Given the description of an element on the screen output the (x, y) to click on. 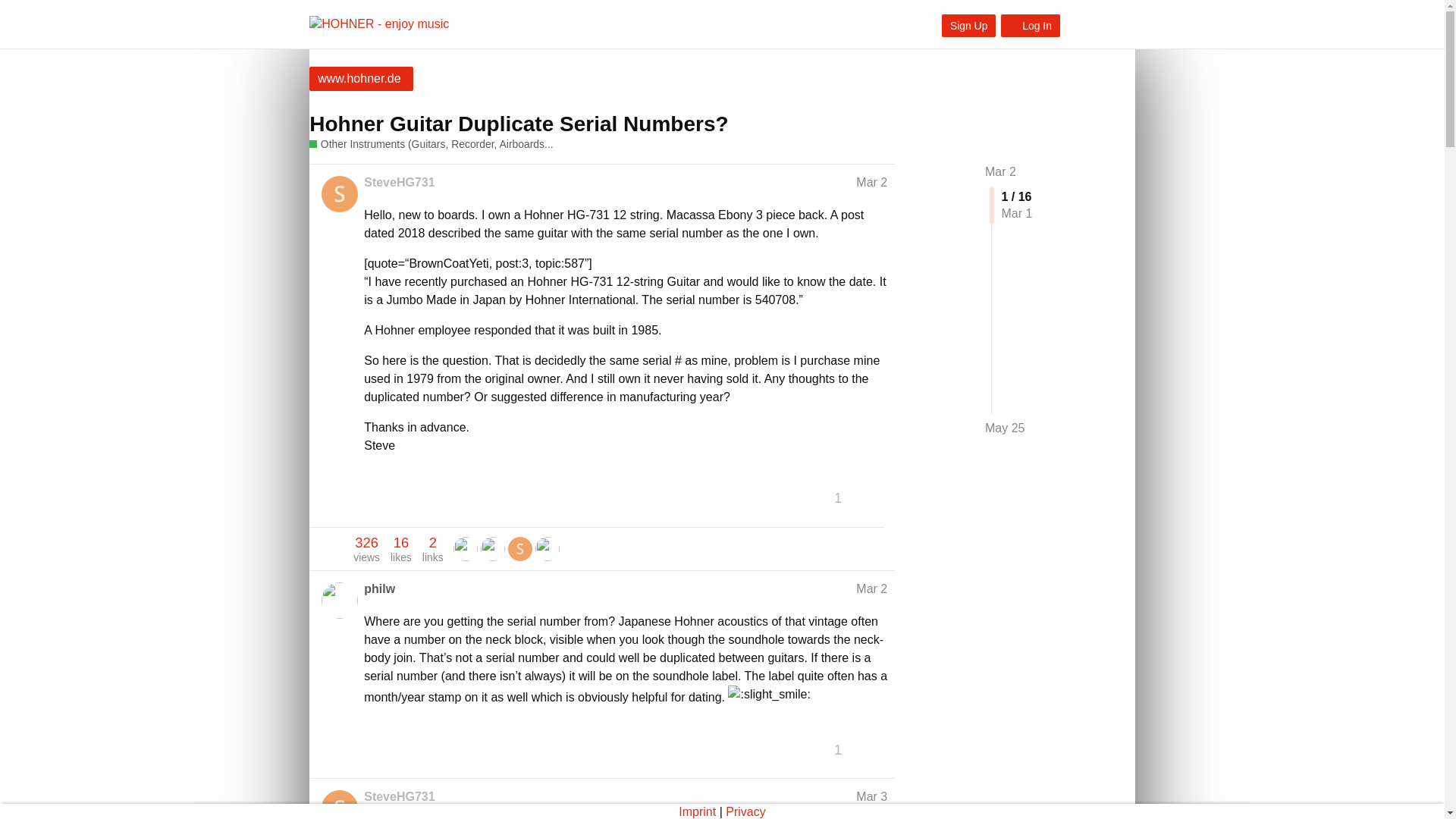
SteveHG731 (398, 796)
copy a link to this post to clipboard (880, 498)
Sign Up (968, 25)
Jump to the first post (1000, 171)
Jump to the last post (1005, 427)
Mar 2 (1000, 171)
Post date (871, 182)
1 (844, 498)
SteveHG731 (398, 182)
